Given the description of an element on the screen output the (x, y) to click on. 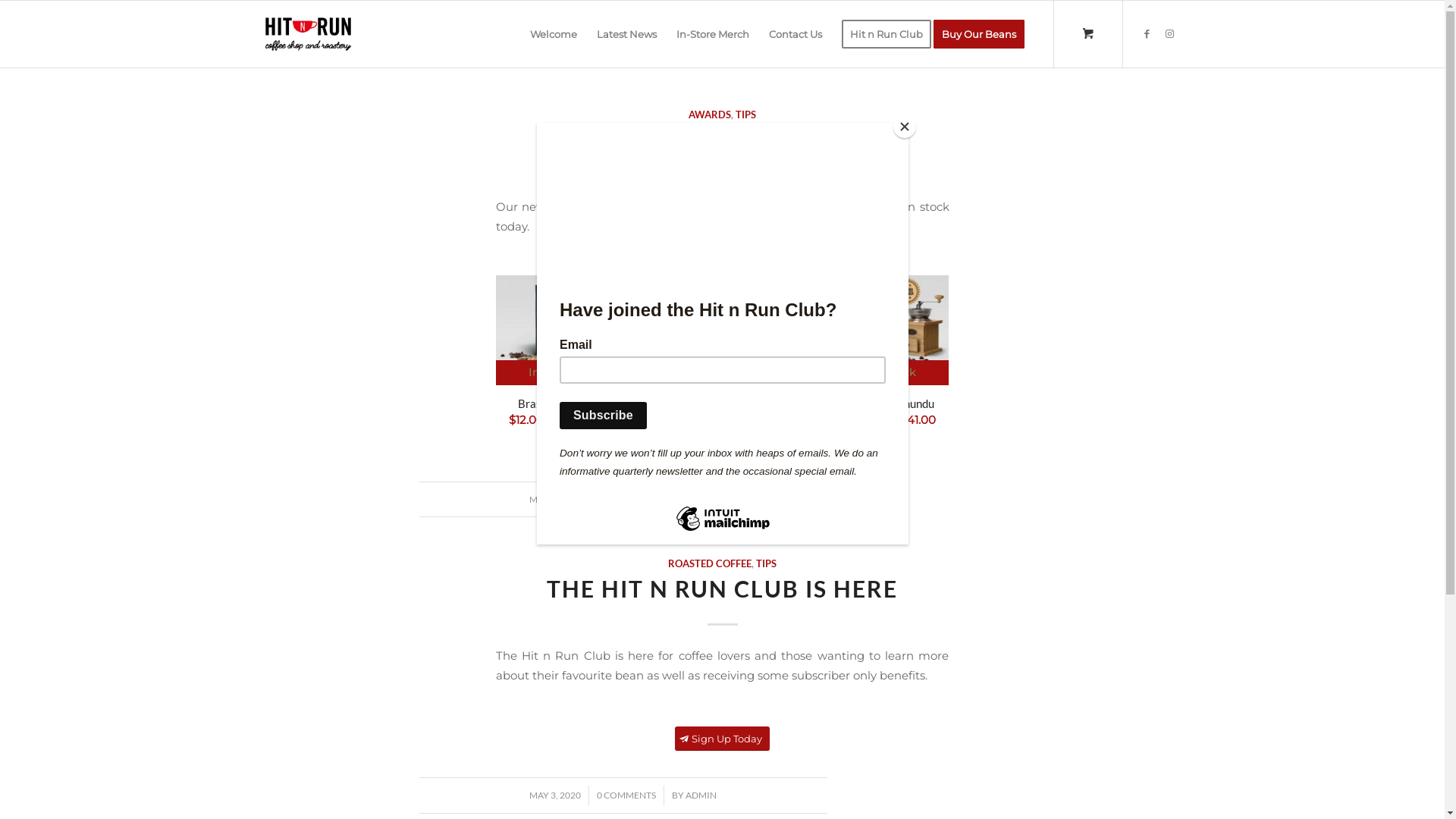
Sign Up Today Element type: text (721, 738)
TIPS Element type: text (766, 563)
In-Store Merch Element type: text (711, 33)
Facebook Element type: hover (1146, 32)
Latest News Element type: text (626, 33)
ROASTED COFFEE Element type: text (709, 563)
Welcome Element type: text (553, 33)
Hit n Run Club Element type: text (885, 33)
THE HIT N RUN CLUB IS HERE Element type: text (721, 588)
0 COMMENTS Element type: text (625, 794)
ONLINE ORDERS NOW OPEN Element type: text (722, 138)
AWARDS Element type: text (709, 114)
0 COMMENTS Element type: text (625, 499)
ADMIN Element type: text (700, 499)
reversed Element type: hover (307, 33)
Contact Us Element type: text (794, 33)
TIPS Element type: text (745, 114)
Instagram Element type: hover (1169, 32)
Buy Our Beans Element type: text (982, 33)
ADMIN Element type: text (700, 794)
